Given the description of an element on the screen output the (x, y) to click on. 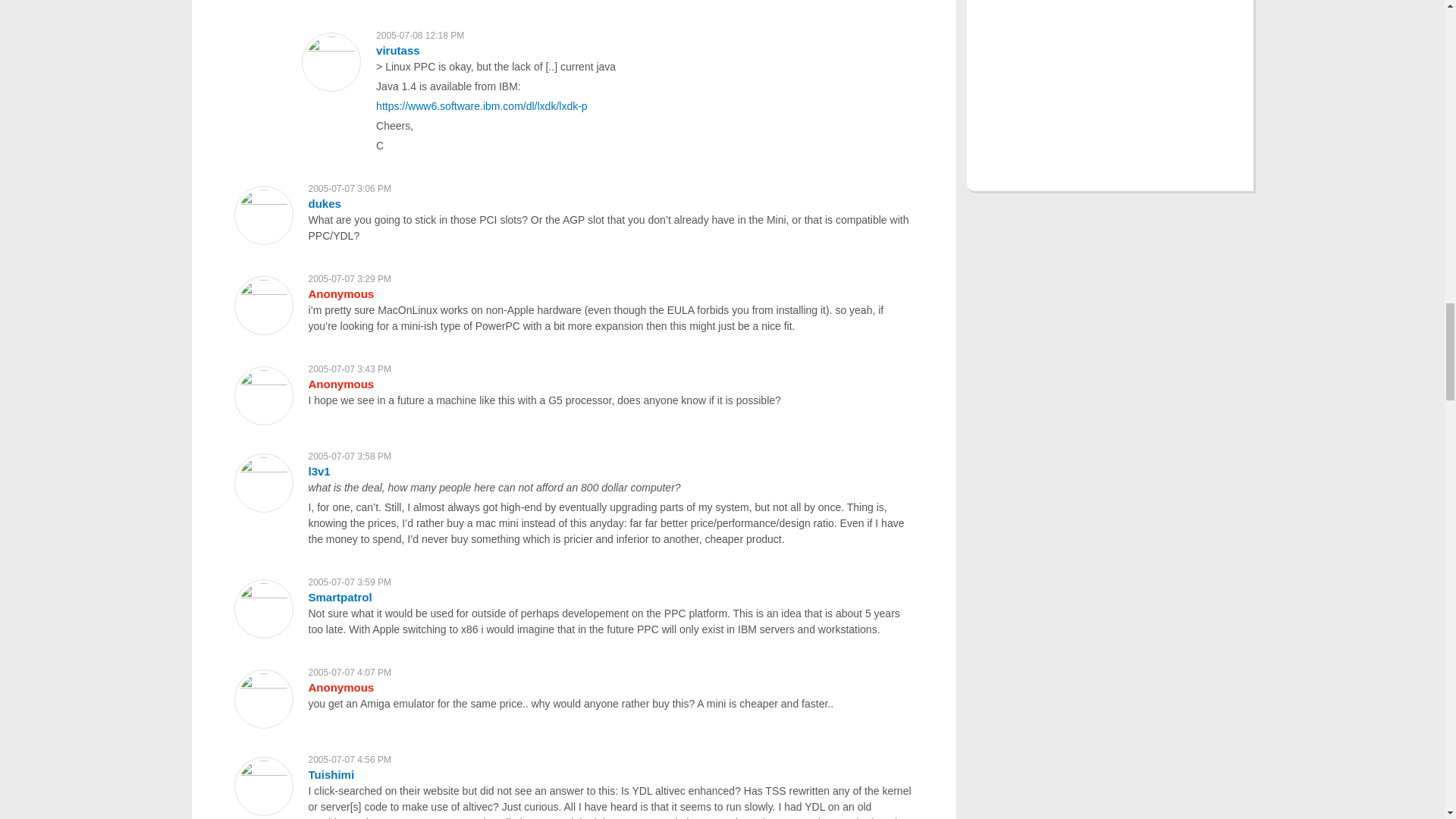
virutass (397, 50)
dukes (323, 203)
